Given the description of an element on the screen output the (x, y) to click on. 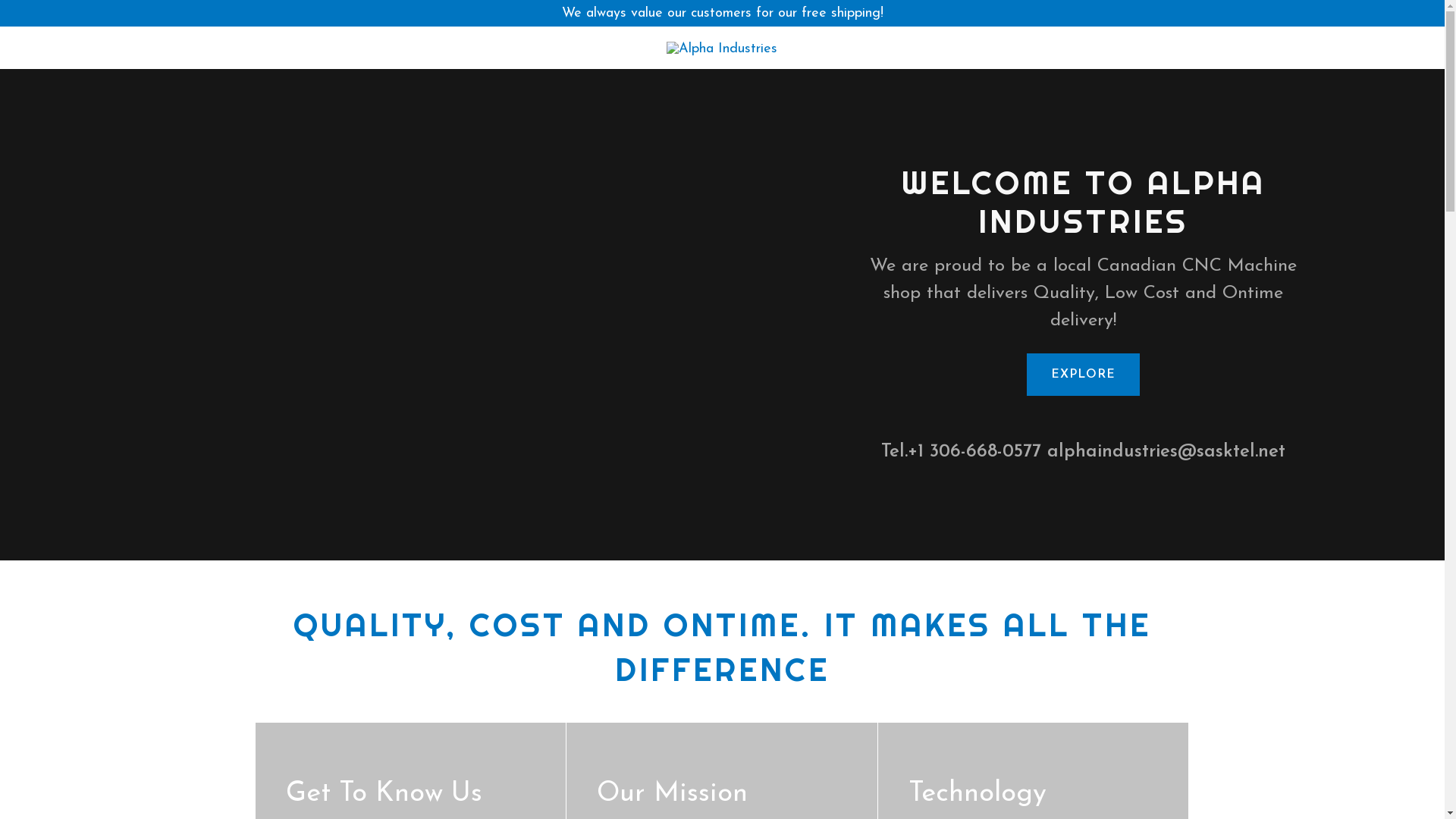
EXPLORE Element type: text (1082, 374)
alphaindustries@sasktel.net Element type: text (1166, 451)
Alpha Industries Element type: hover (721, 47)
1 306-668-0577 Element type: text (979, 451)
